Given the description of an element on the screen output the (x, y) to click on. 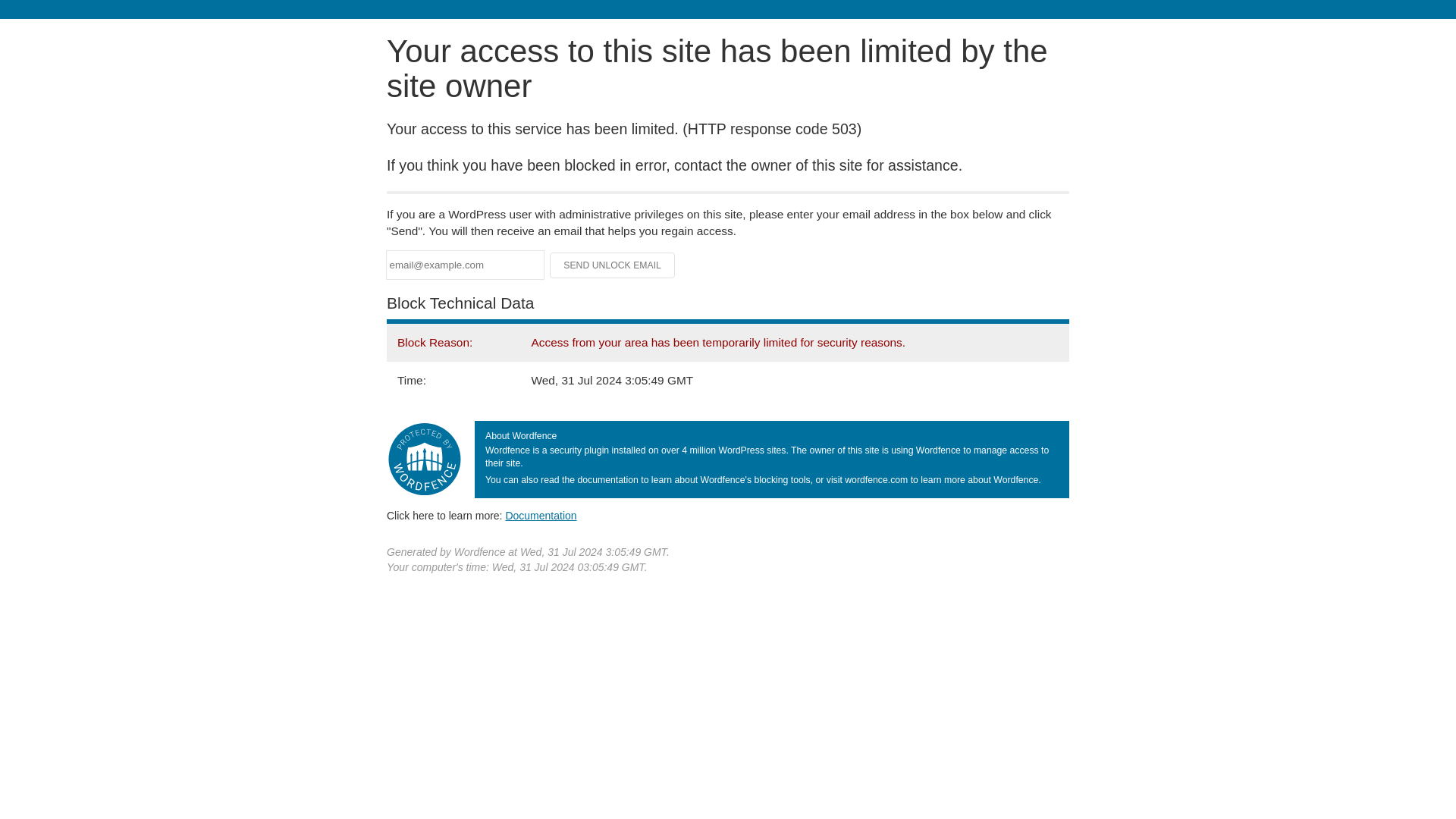
Send Unlock Email (612, 265)
Documentation (540, 515)
Send Unlock Email (612, 265)
